Given the description of an element on the screen output the (x, y) to click on. 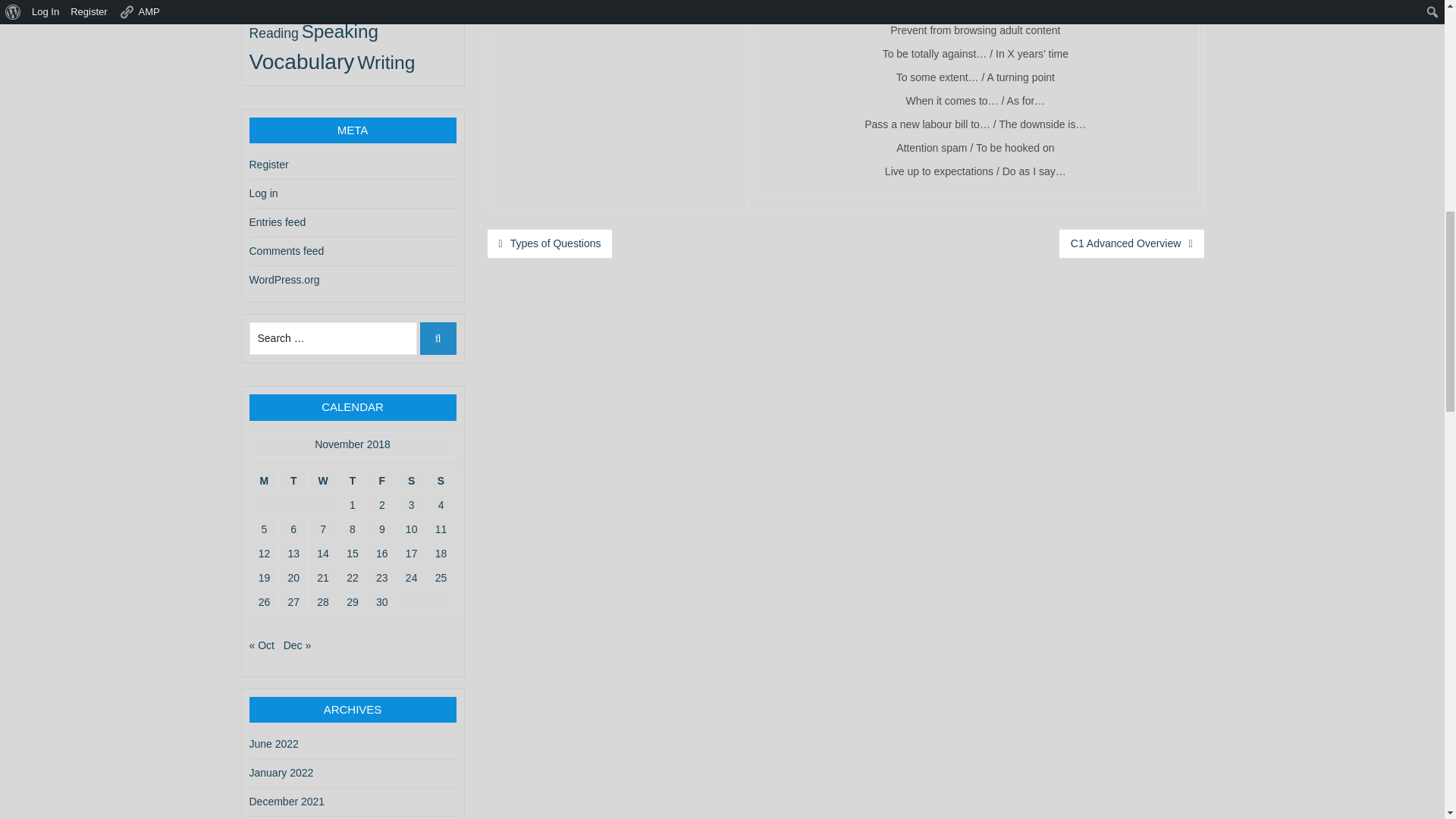
Wednesday (322, 481)
C1 Advanced Overview (1131, 243)
Types of Questions (548, 243)
Tuesday (292, 481)
Thursday (351, 481)
Saturday (411, 481)
Friday (381, 481)
Monday (263, 481)
Sunday (440, 481)
